Given the description of an element on the screen output the (x, y) to click on. 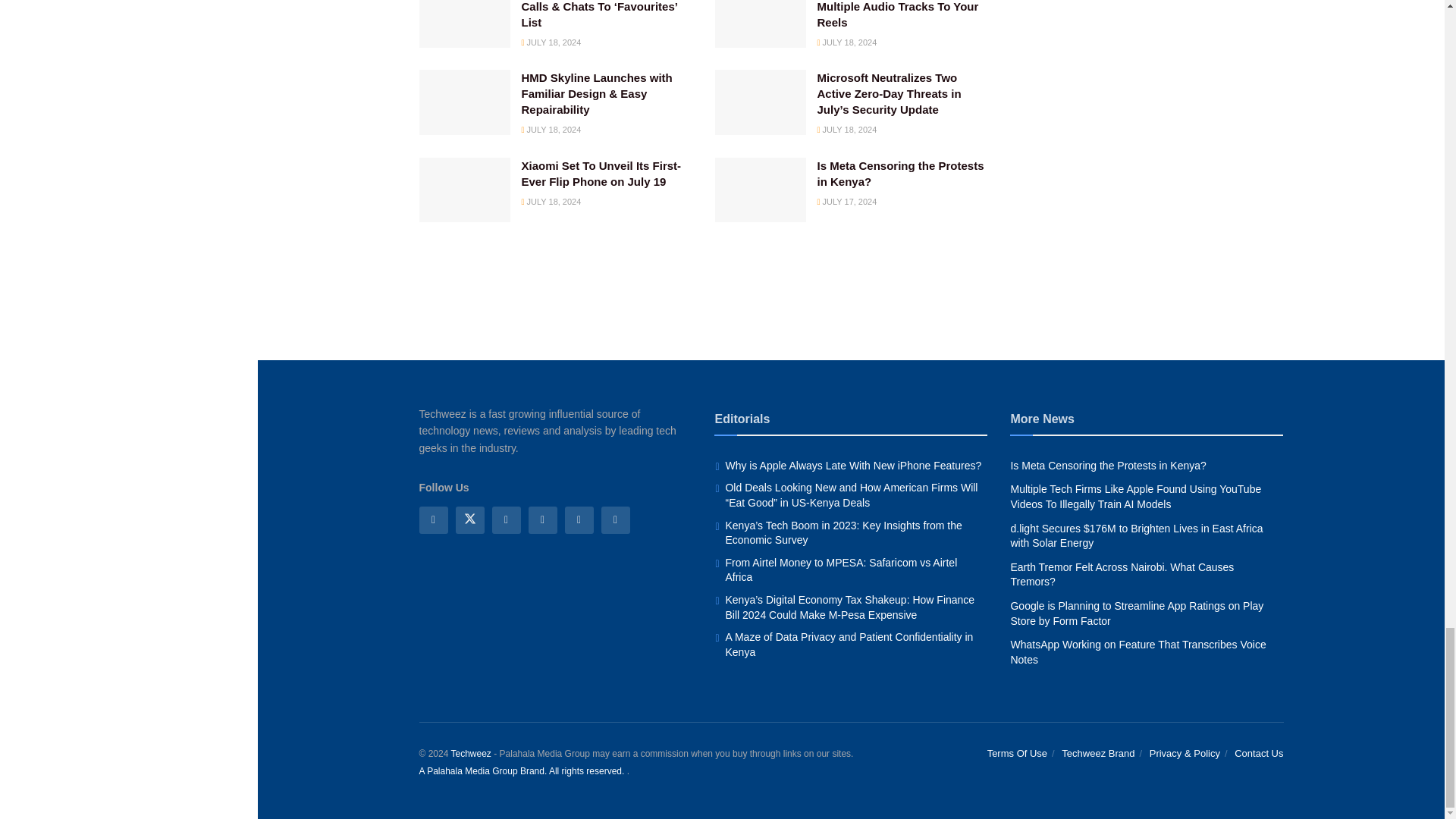
Techweez, a Palahala Media Group Brand. All rights reserved (469, 753)
